Given the description of an element on the screen output the (x, y) to click on. 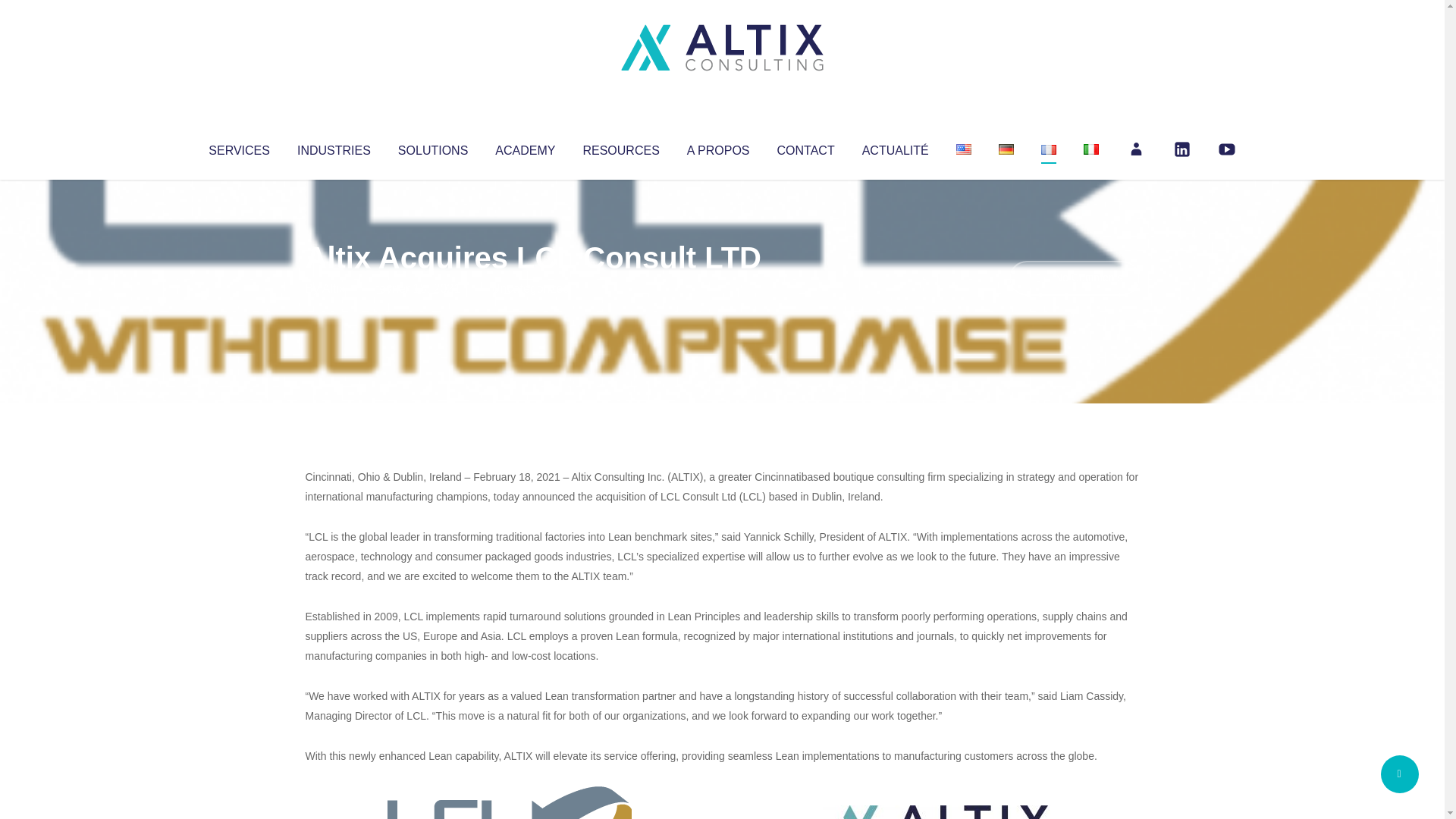
No Comments (1073, 278)
SERVICES (238, 146)
Altix (333, 287)
RESOURCES (620, 146)
Uncategorized (530, 287)
SOLUTIONS (432, 146)
ACADEMY (524, 146)
A PROPOS (718, 146)
Articles par Altix (333, 287)
INDUSTRIES (334, 146)
